Given the description of an element on the screen output the (x, y) to click on. 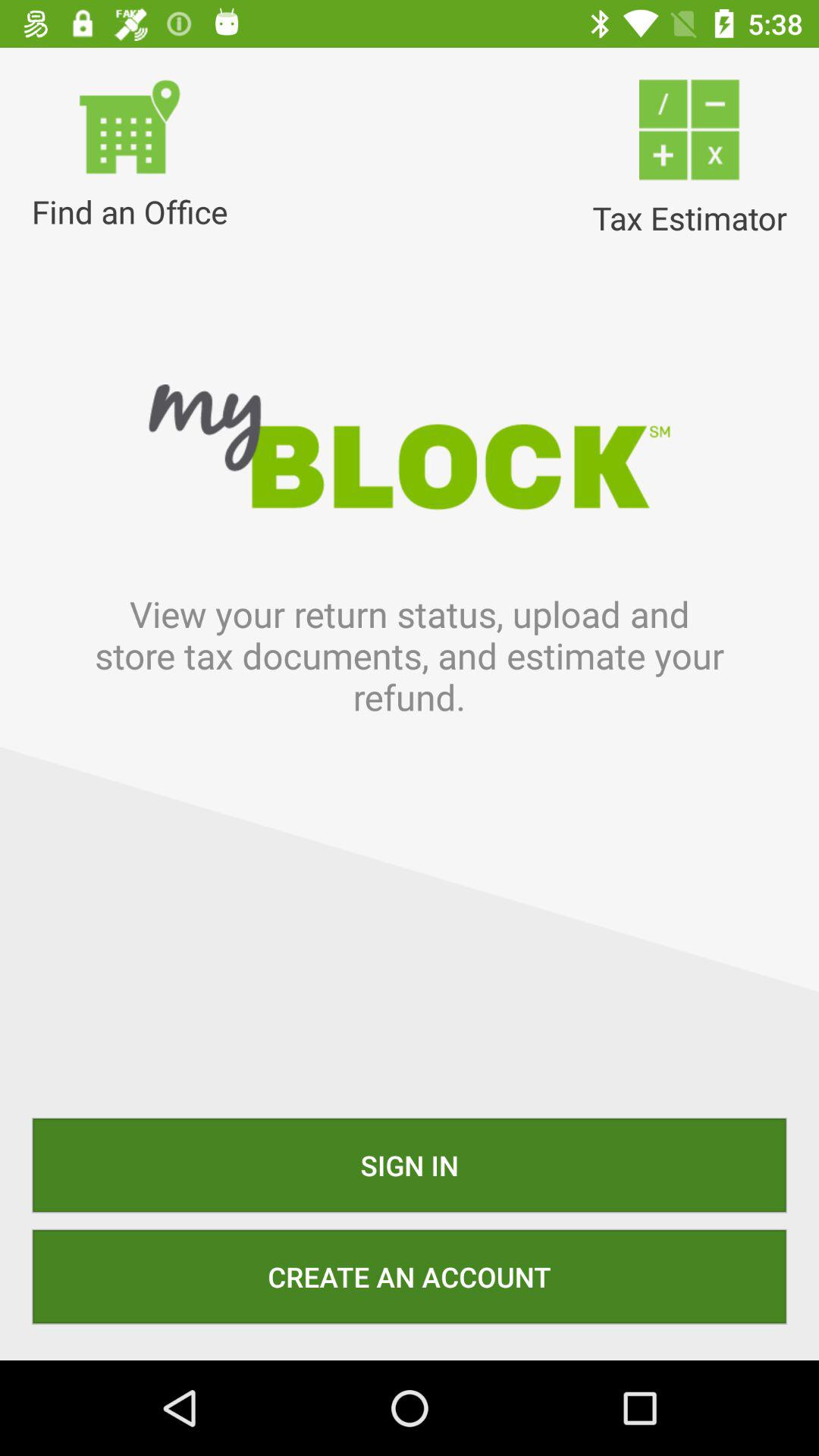
press the item below the view your return (409, 1165)
